Given the description of an element on the screen output the (x, y) to click on. 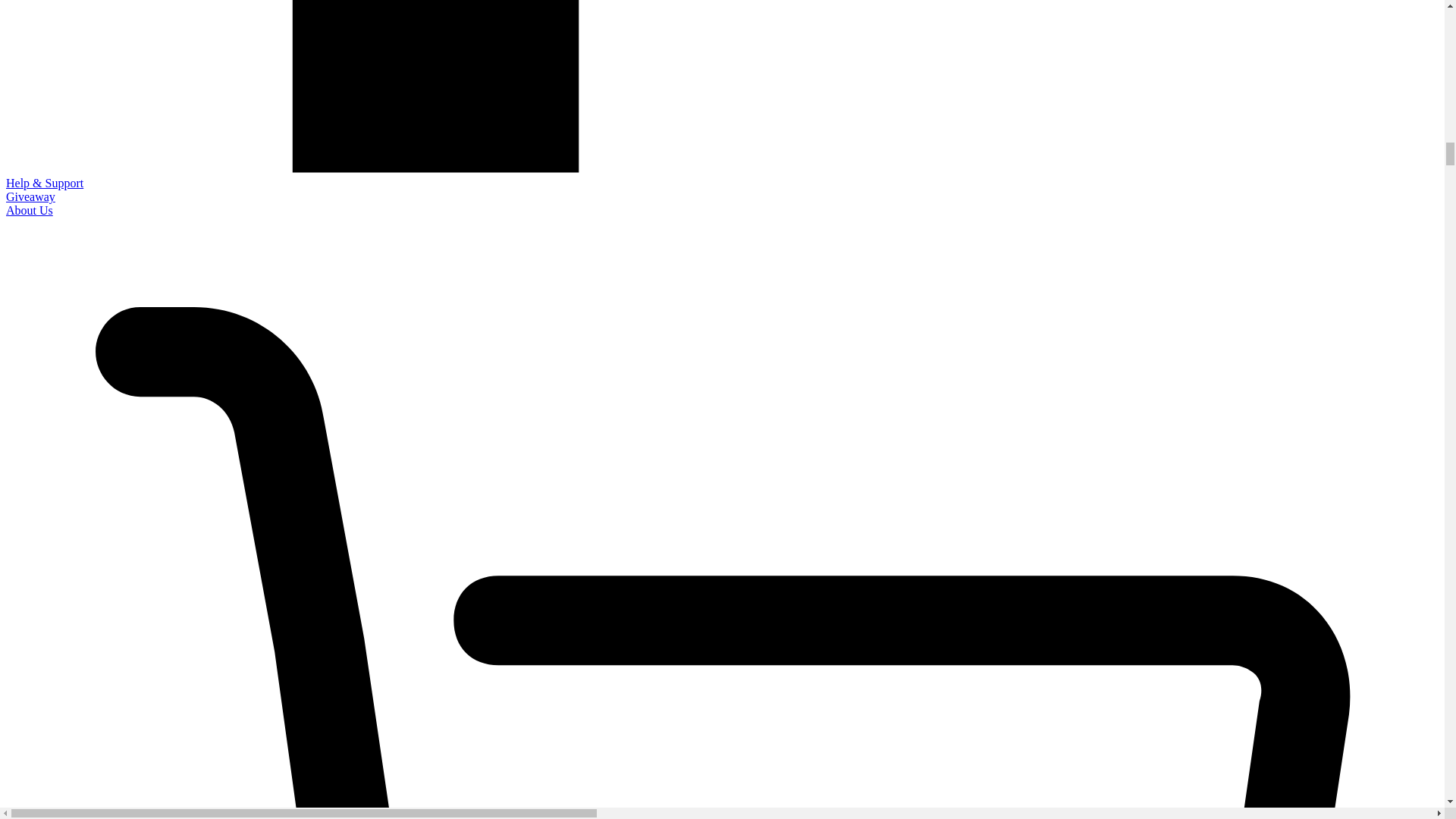
Giveaway (30, 196)
About Us (28, 210)
